Given the description of an element on the screen output the (x, y) to click on. 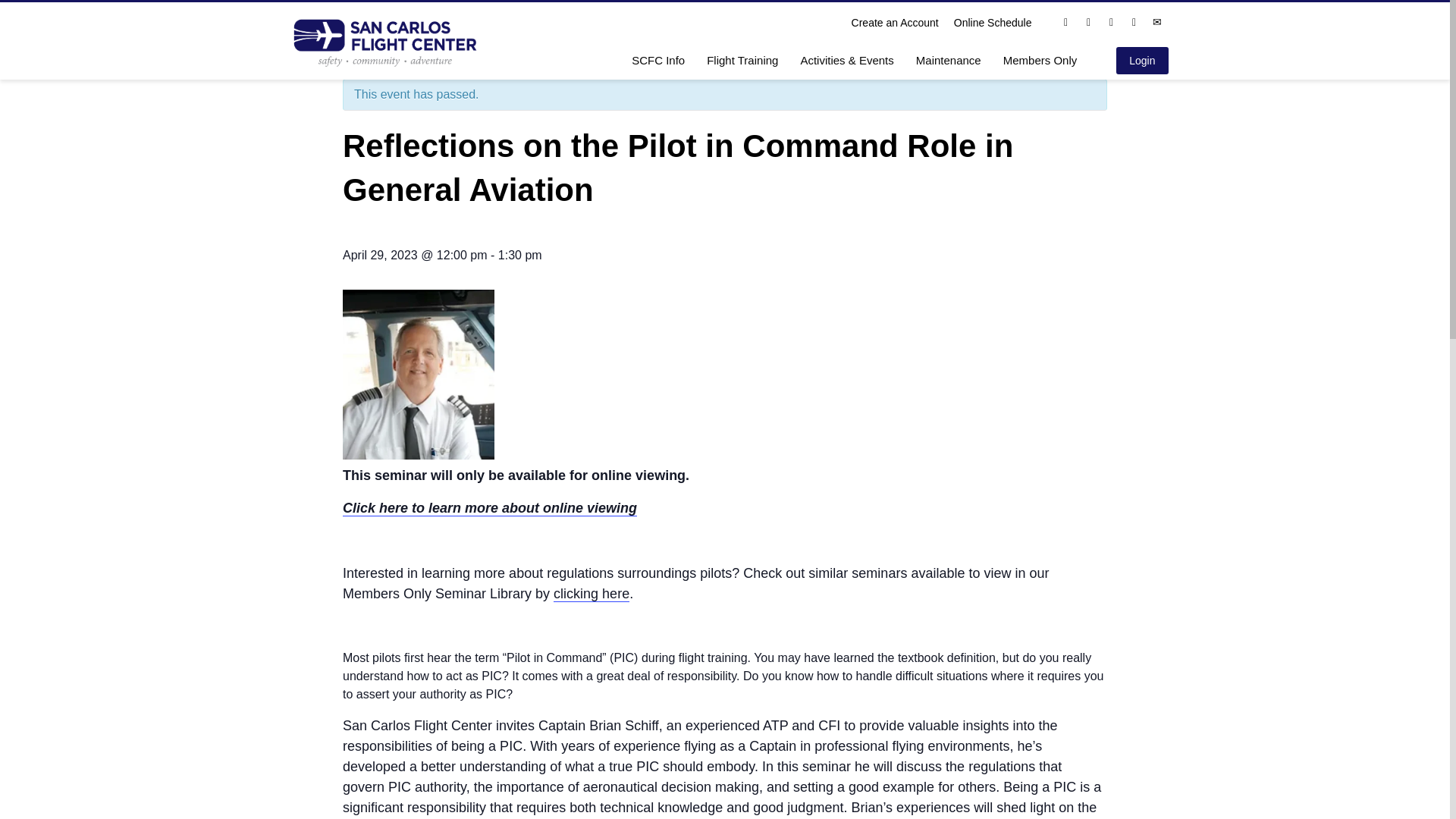
Flight Training (742, 59)
Facebook (1065, 22)
SCFC Info (658, 59)
YouTube (1133, 22)
Twitter (1111, 22)
Create an Account (895, 22)
Instagram (1088, 22)
Online Schedule (992, 22)
Email (1157, 22)
Login (1141, 60)
